Given the description of an element on the screen output the (x, y) to click on. 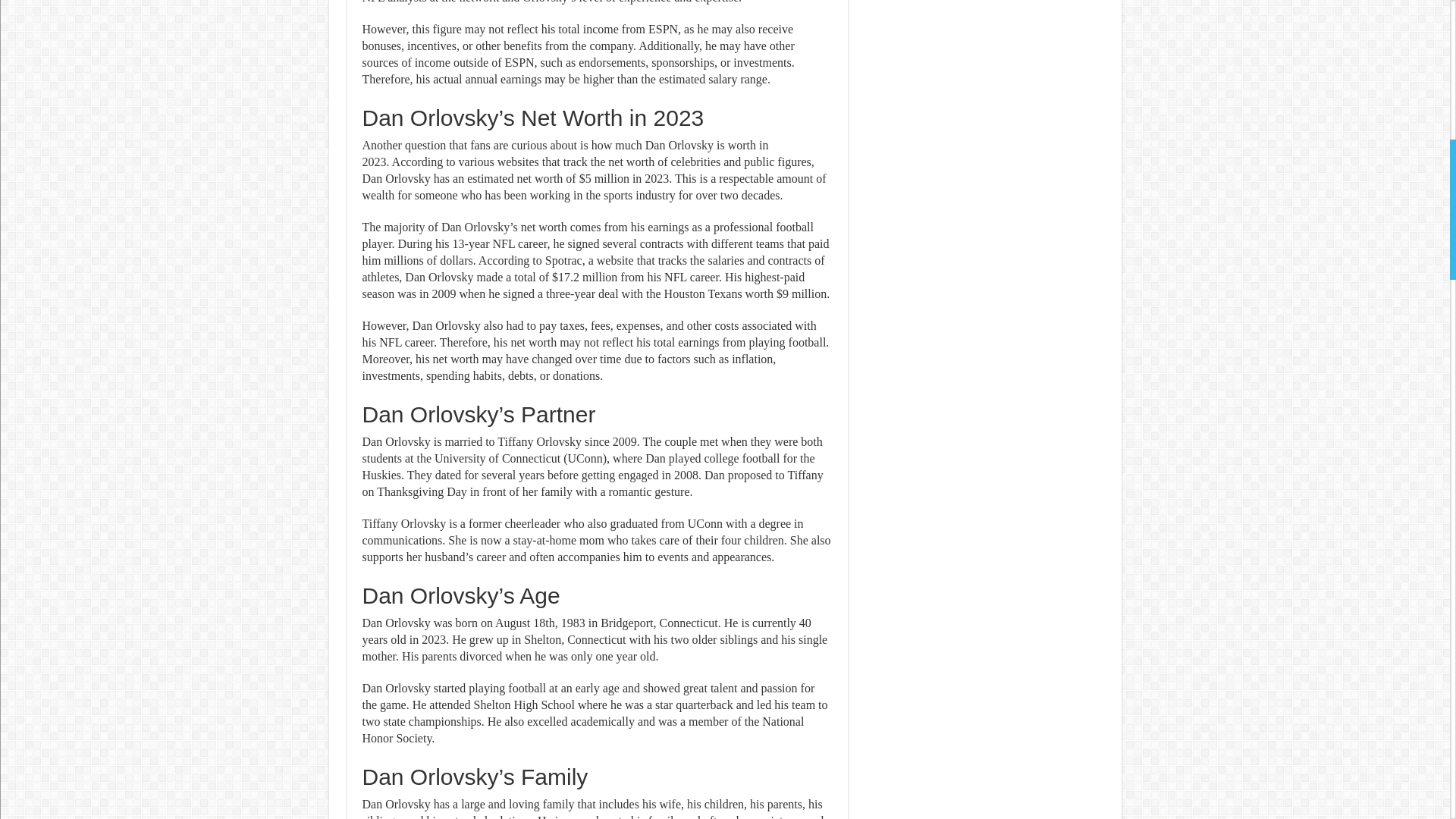
Scroll To Top (1427, 60)
